Given the description of an element on the screen output the (x, y) to click on. 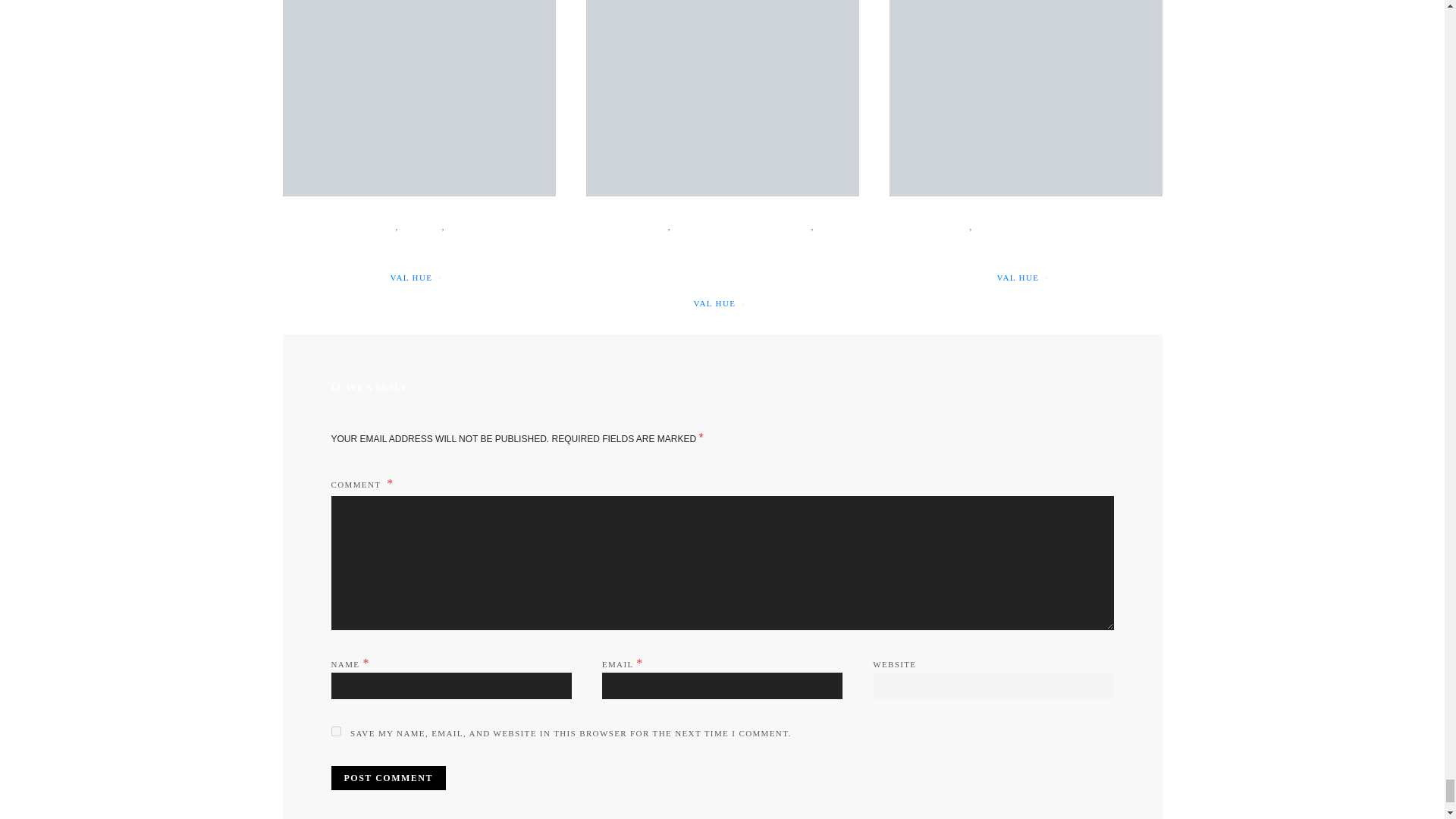
Post Comment (387, 777)
yes (335, 731)
